Given the description of an element on the screen output the (x, y) to click on. 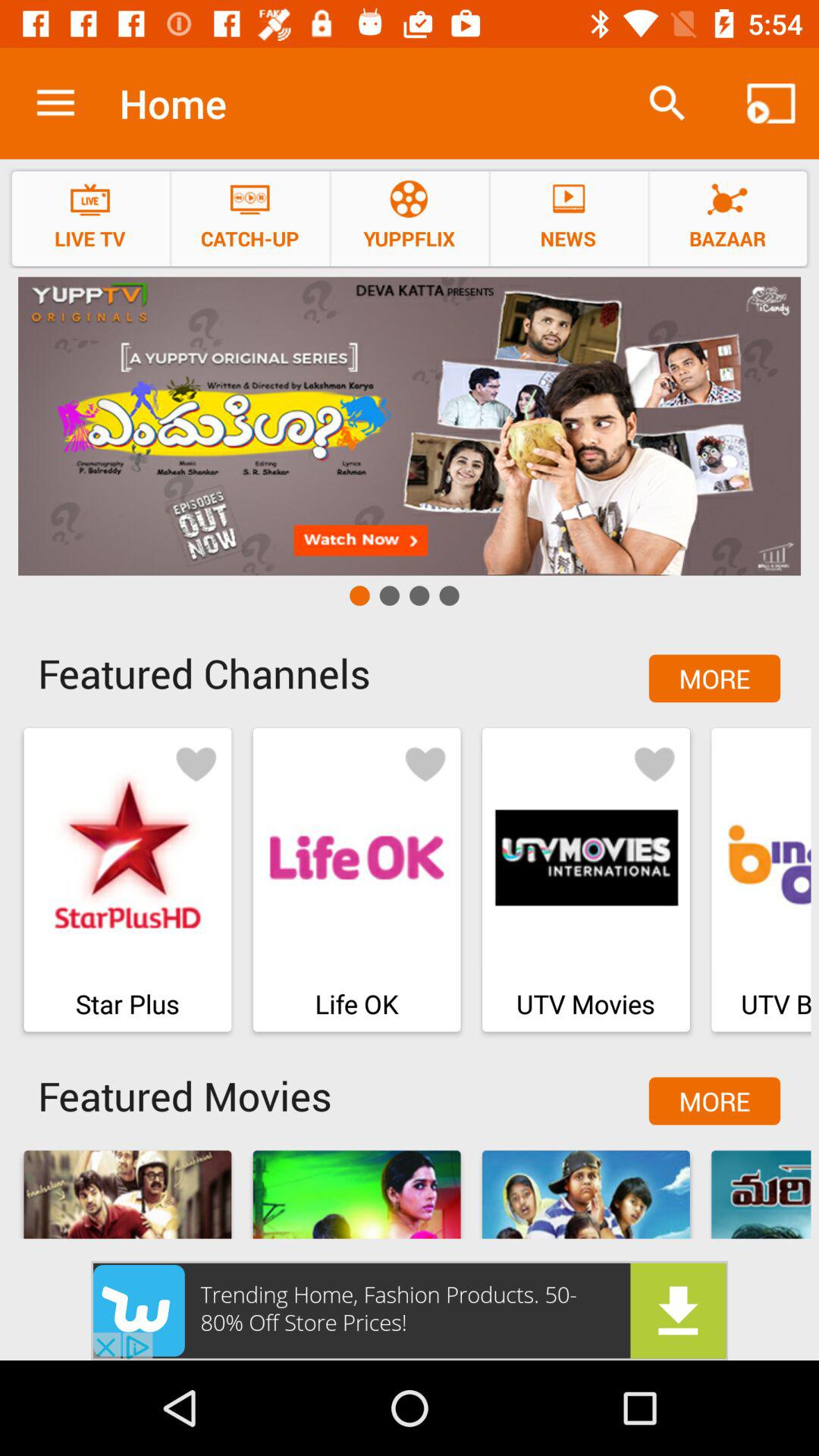
advertisement (409, 1310)
